Given the description of an element on the screen output the (x, y) to click on. 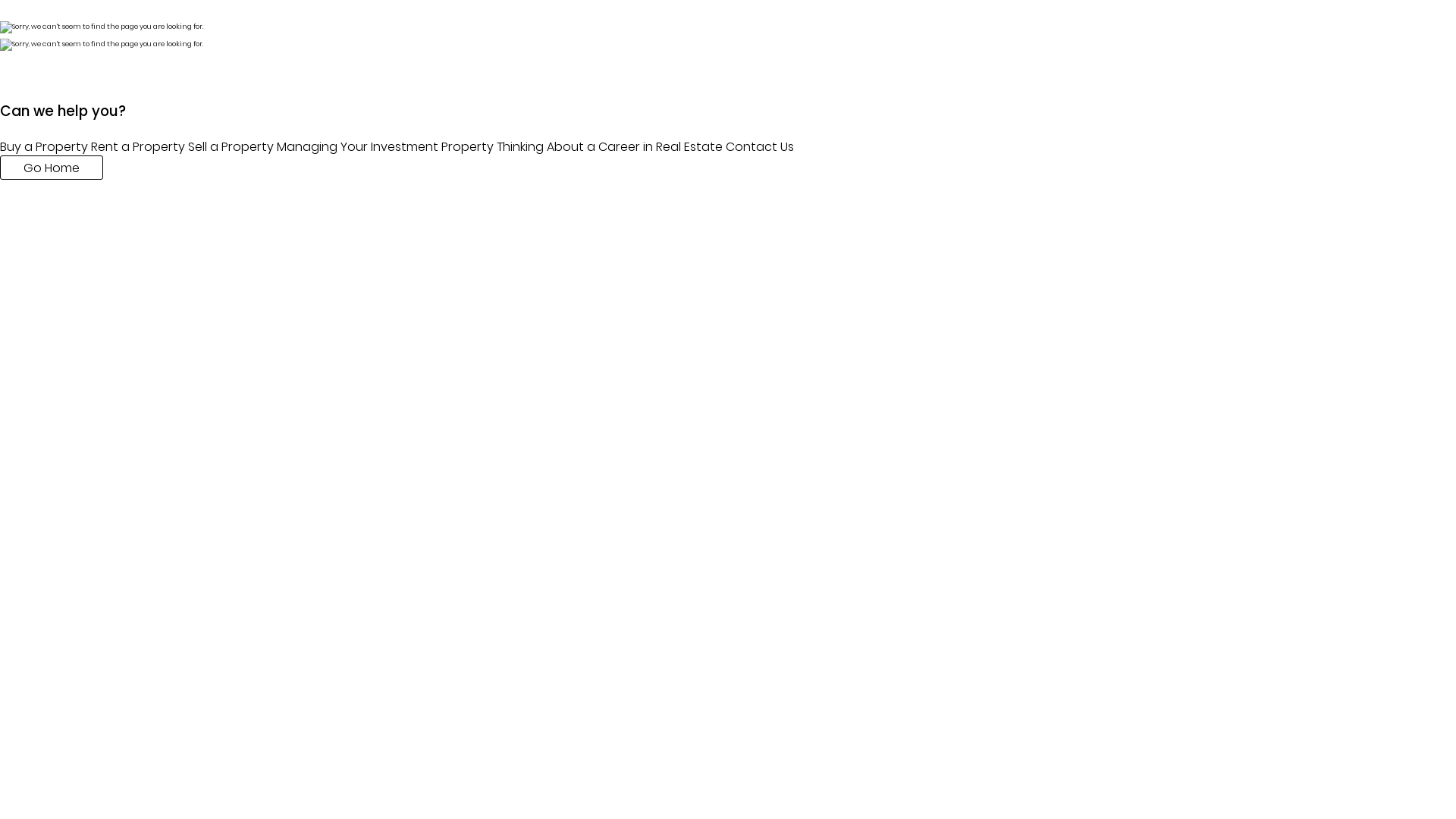
Go Home Element type: text (51, 167)
Buy a Property Element type: text (43, 146)
Contact Us Element type: text (759, 146)
Sell a Property Element type: text (230, 146)
Rent a Property Element type: text (138, 146)
Thinking About a Career in Real Estate Element type: text (609, 146)
Managing Your Investment Property Element type: text (384, 146)
